Given the description of an element on the screen output the (x, y) to click on. 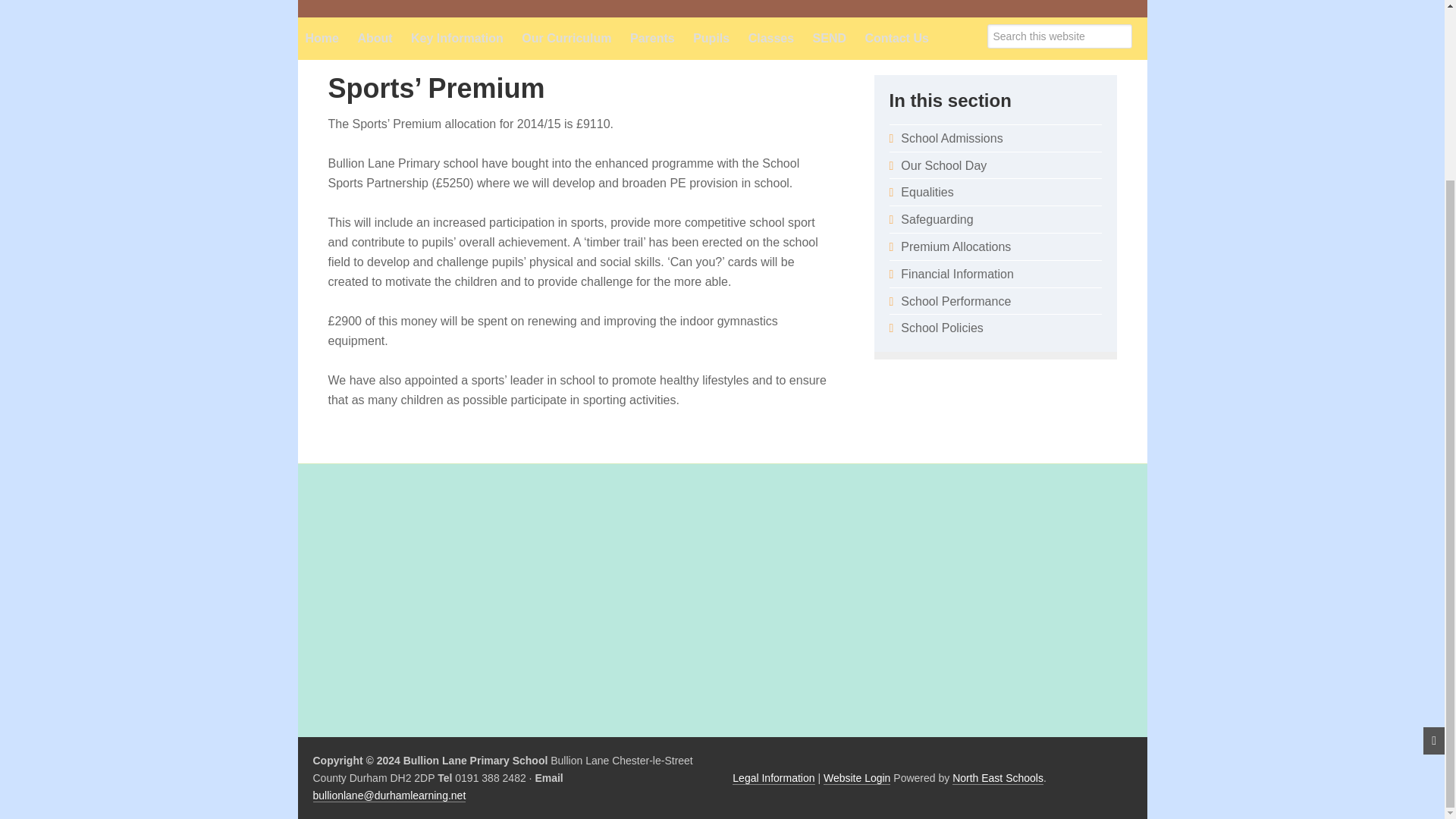
Key Information (457, 38)
About (373, 38)
Home (321, 38)
Our Curriculum (565, 38)
Pupils (710, 38)
Classes (771, 38)
SEND (829, 38)
Parents (652, 38)
